Given the description of an element on the screen output the (x, y) to click on. 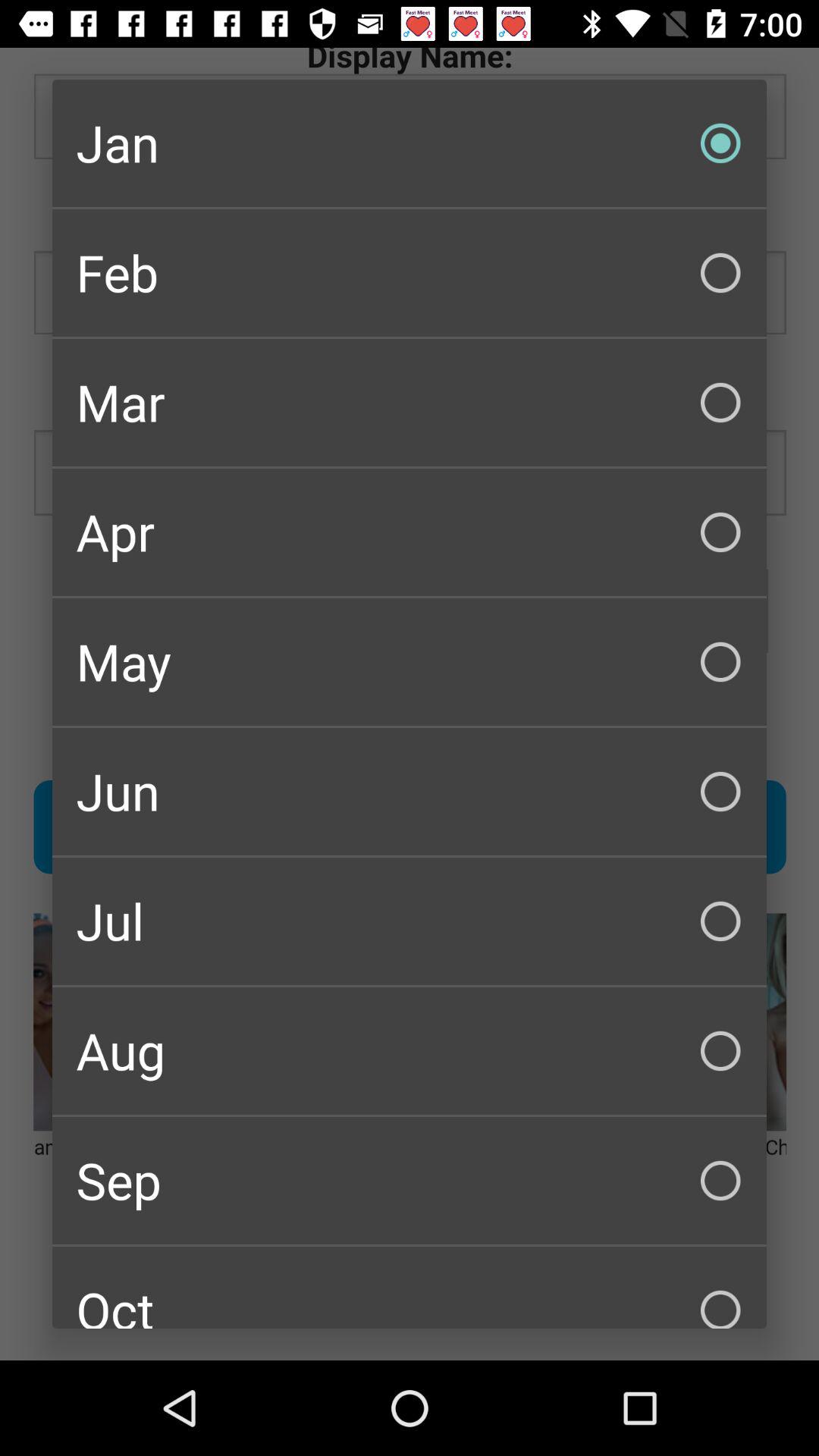
scroll until the oct (409, 1287)
